Given the description of an element on the screen output the (x, y) to click on. 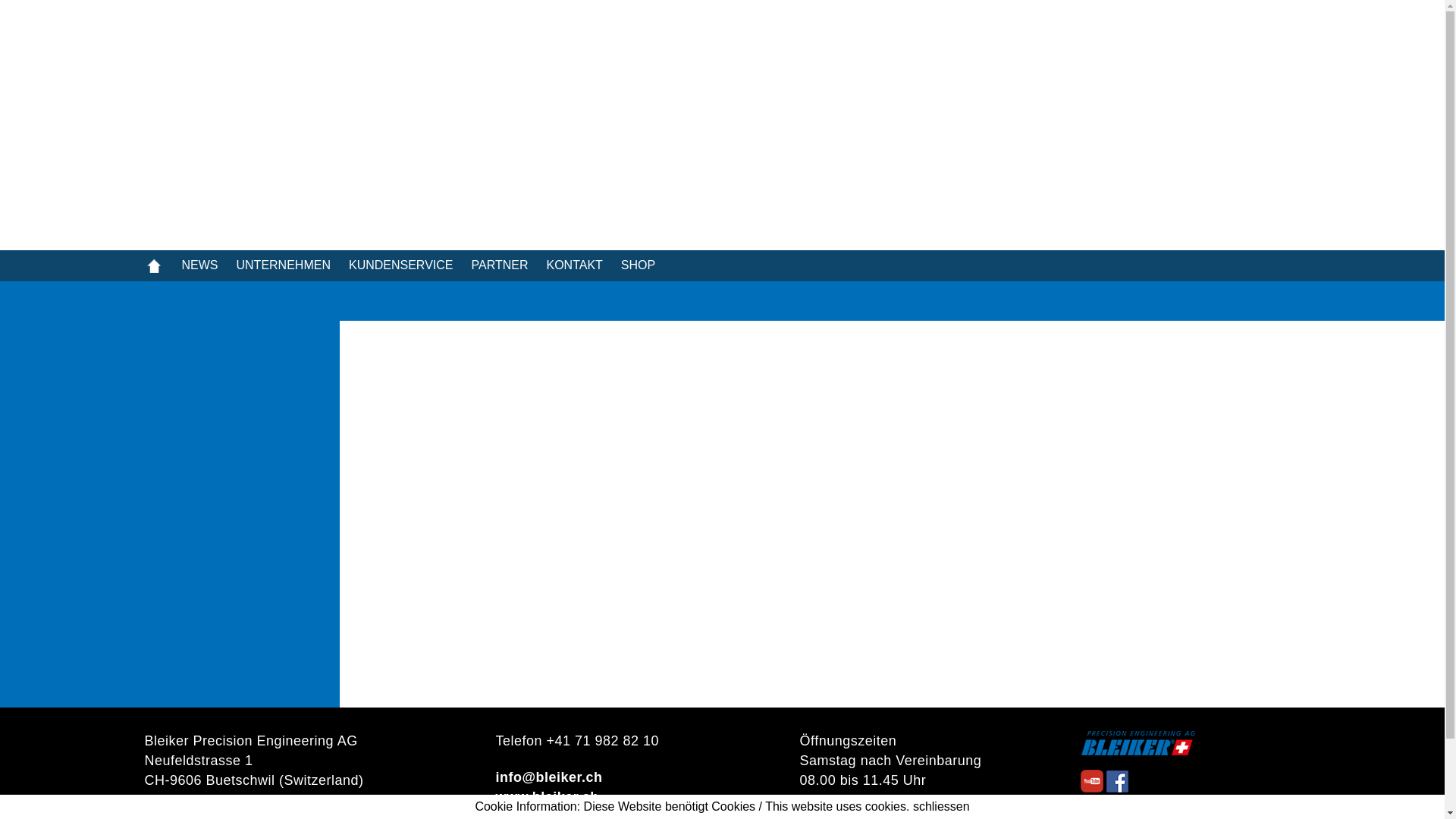
> Lageplan Element type: text (181, 799)
www.bleiker.ch Element type: text (546, 796)
PARTNER Element type: text (508, 264)
KONTAKT Element type: text (583, 264)
KUNDENSERVICE Element type: text (409, 264)
NEWS Element type: text (209, 264)
UNTERNEHMEN Element type: text (292, 264)
SHOP Element type: text (647, 264)
info@bleiker.ch Element type: text (548, 777)
